Given the description of an element on the screen output the (x, y) to click on. 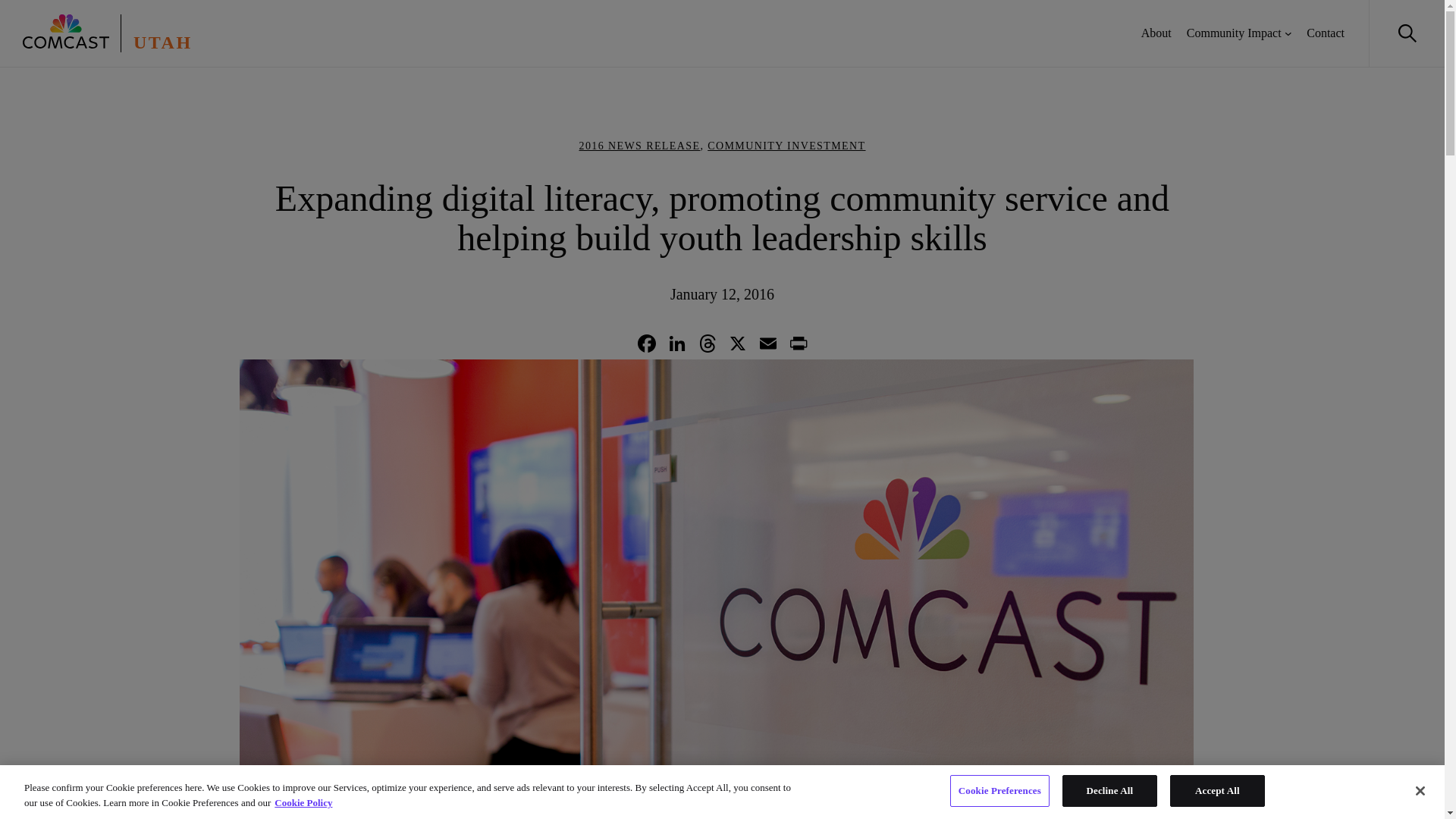
Email (767, 345)
Email (767, 345)
Facebook (645, 345)
PrintFriendly (797, 345)
LinkedIn (676, 345)
Threads (706, 345)
X (737, 345)
X (737, 345)
Threads (706, 345)
UTAH (162, 42)
2016 NEWS RELEASE (639, 145)
Community Impact (1233, 33)
About (1156, 33)
PrintFriendly (797, 345)
Contact (1324, 33)
